Given the description of an element on the screen output the (x, y) to click on. 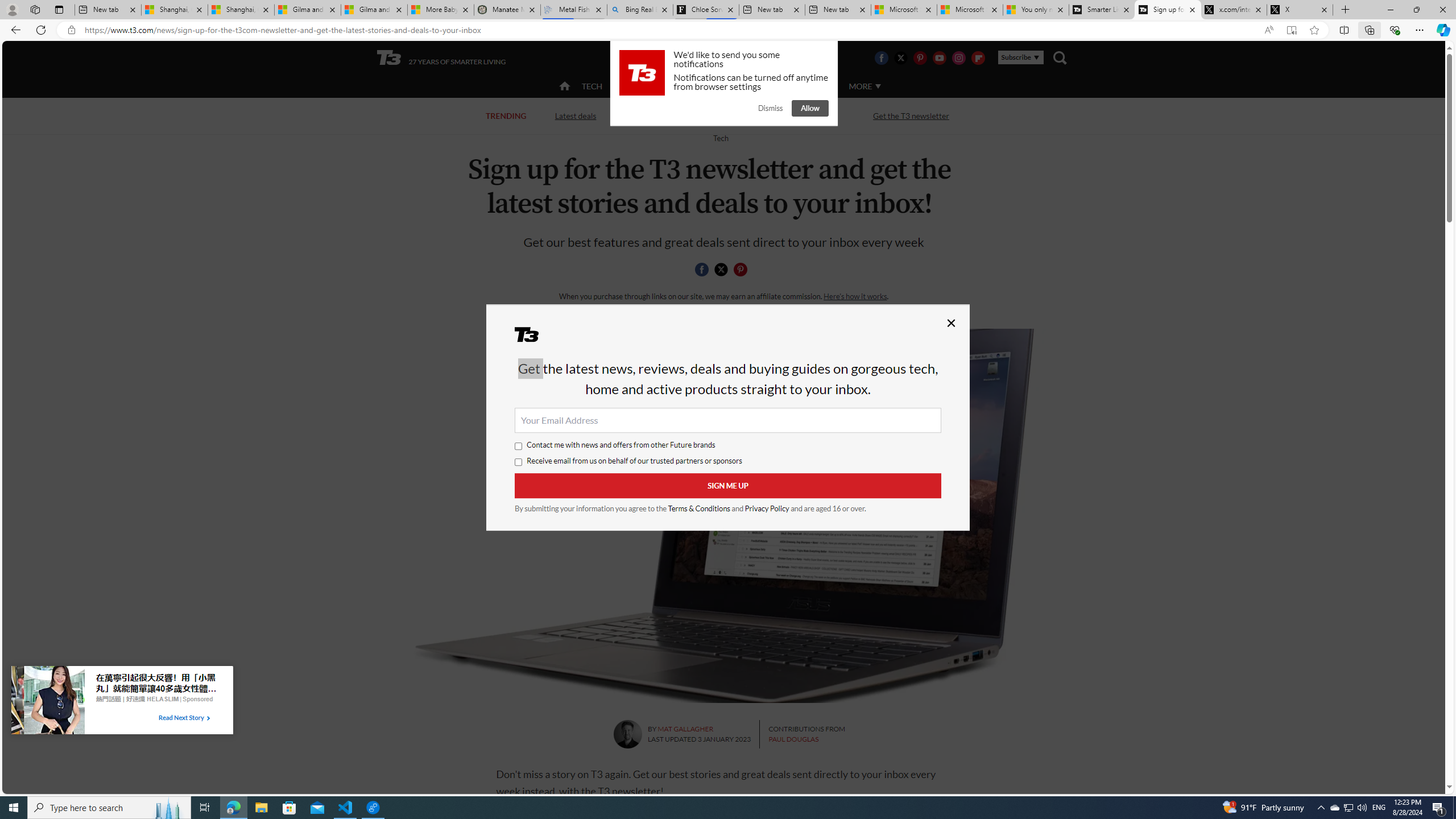
Enter Immersive Reader (F9) (1291, 29)
Return to Tech (720, 137)
LUXURY (765, 86)
Class: tbl-arrow-icon arrow-1 (208, 717)
Class: icon-svg (739, 269)
Class: svg-arrow-down (877, 86)
Get the T3 newsletter (911, 115)
Subscribe (1020, 56)
Visit us on Instagram (958, 57)
